Given the description of an element on the screen output the (x, y) to click on. 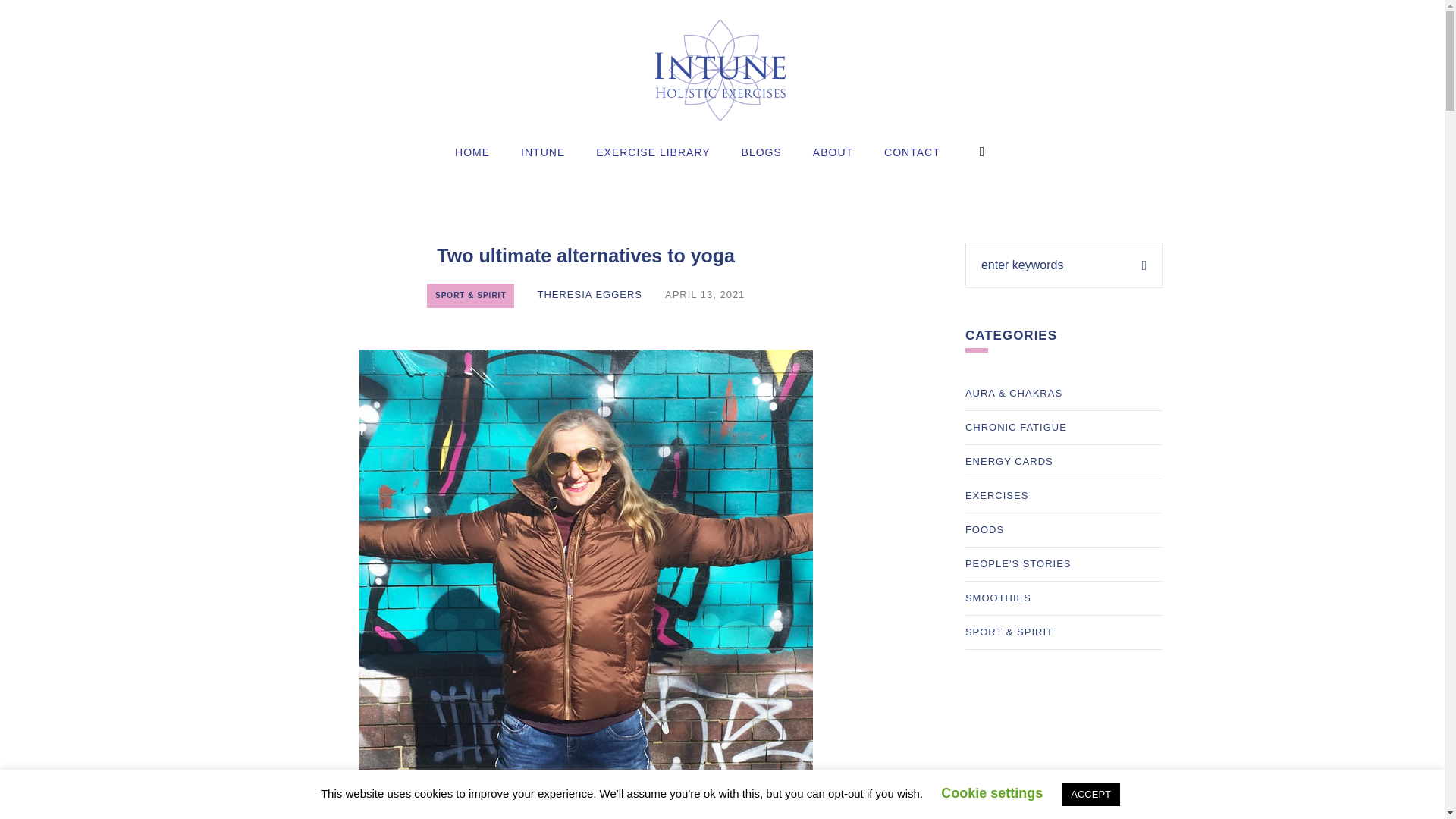
EXERCISES (996, 495)
THERESIA EGGERS (589, 294)
Two ultimate alternatives to yoga (585, 575)
CONTACT (912, 151)
PEOPLE'S STORIES (1018, 563)
Posts by Theresia Eggers (589, 294)
EXERCISE LIBRARY (652, 151)
